Given the description of an element on the screen output the (x, y) to click on. 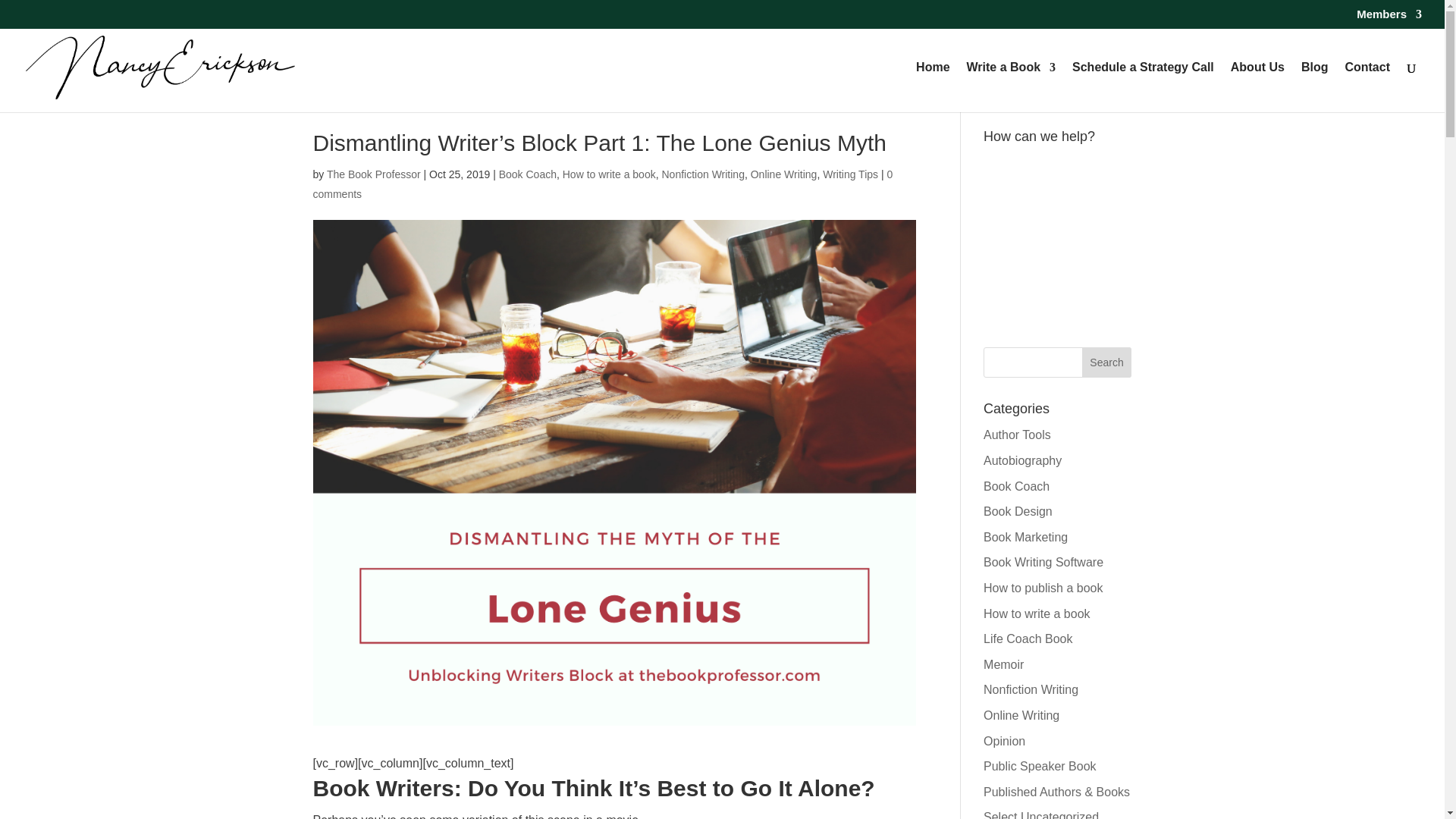
Posts by The Book Professor (373, 174)
Contact (1366, 87)
Online Writing (783, 174)
The Book Professor (373, 174)
Write a Book (1011, 87)
Schedule a Strategy Call (1142, 87)
Search (1106, 362)
0 comments (602, 183)
Members (1389, 17)
How to write a book (609, 174)
About Us (1257, 87)
Nonfiction Writing (702, 174)
Book Coach (527, 174)
Writing Tips (849, 174)
